Given the description of an element on the screen output the (x, y) to click on. 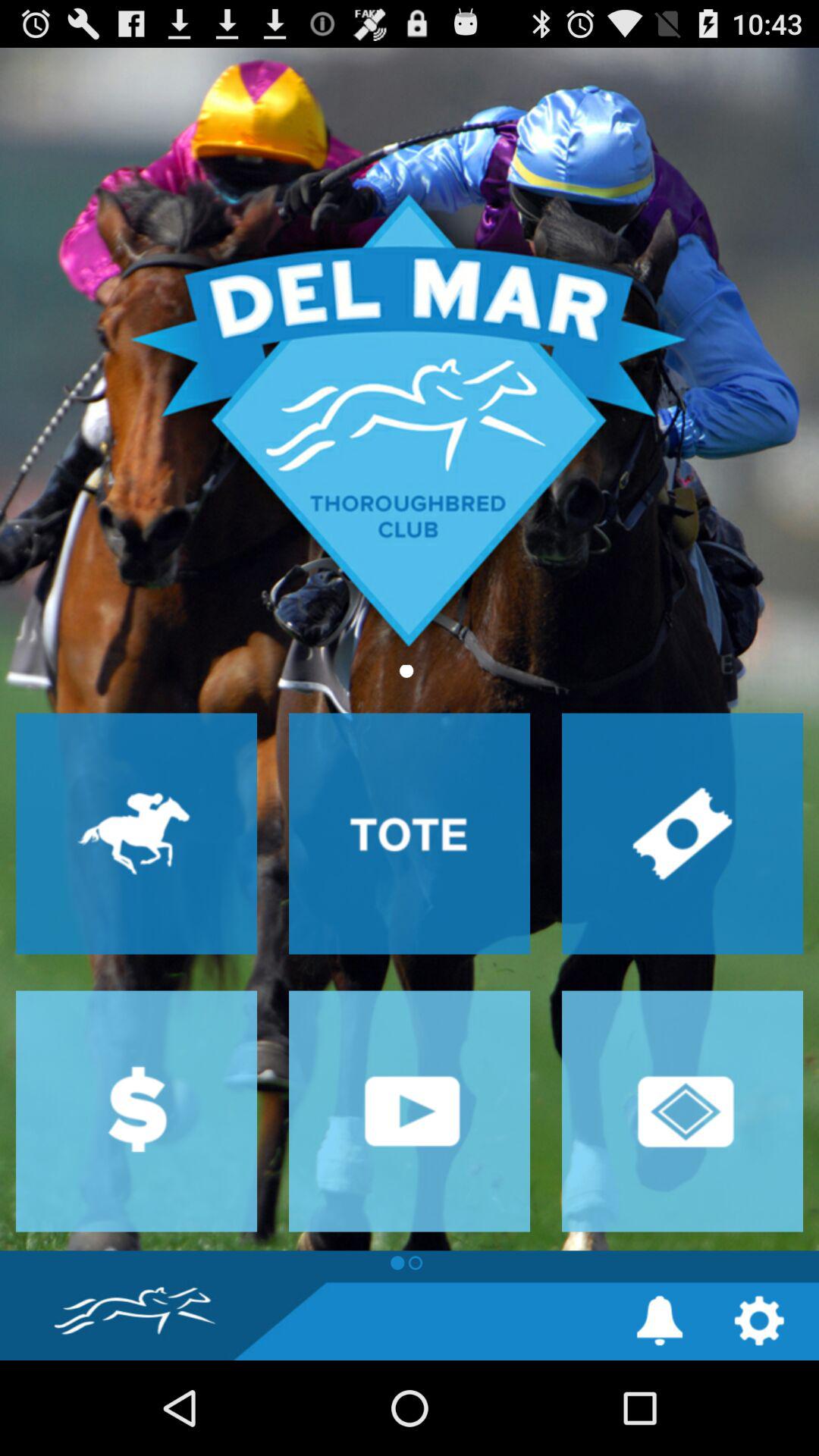
go to tote (409, 833)
